Given the description of an element on the screen output the (x, y) to click on. 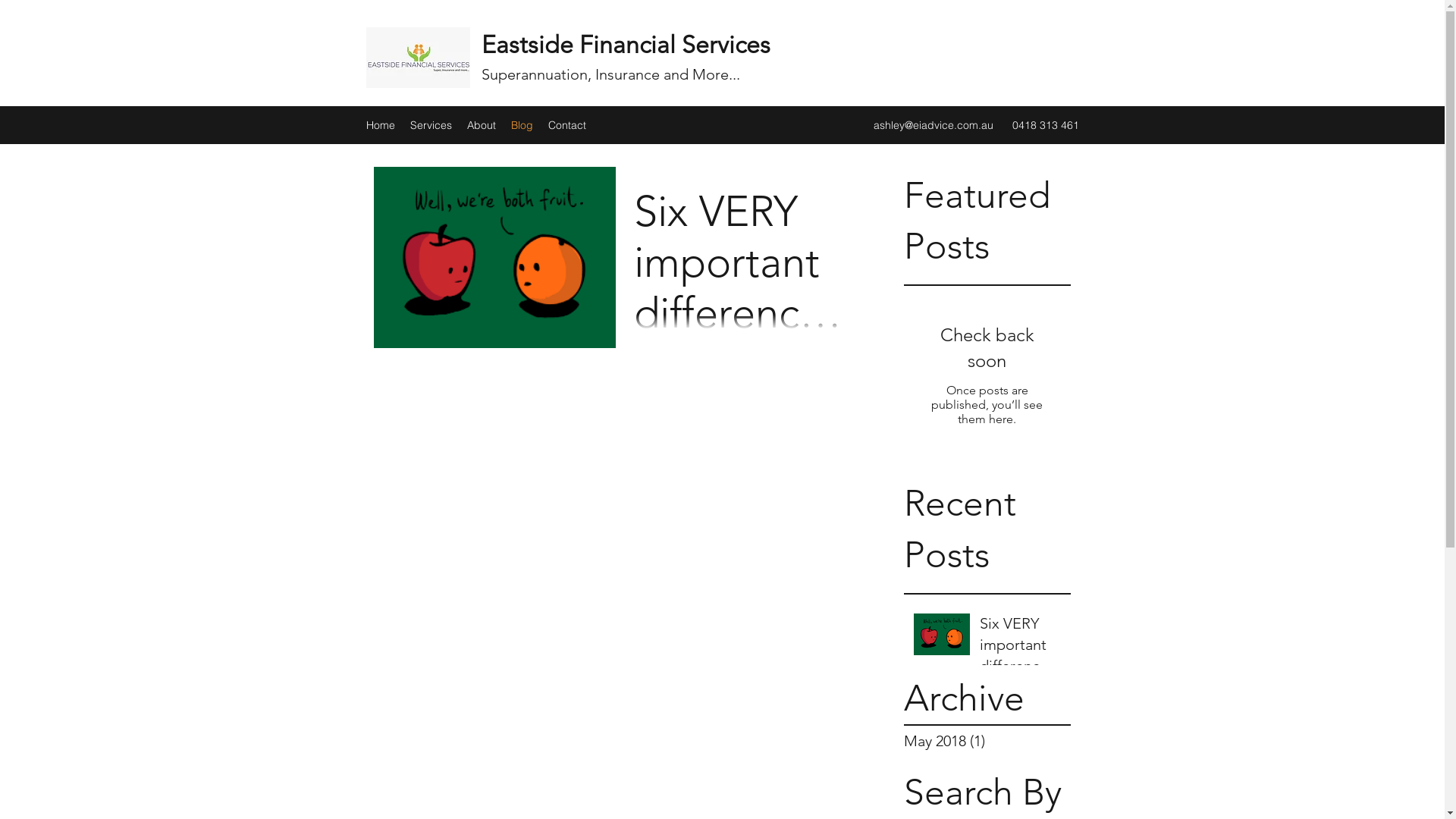
Blog Element type: text (521, 124)
Contact Element type: text (566, 124)
About Element type: text (481, 124)
Services Element type: text (429, 124)
May 2018 (1) Element type: text (983, 740)
ashley@eiadvice.com.au Element type: text (933, 124)
Home Element type: text (379, 124)
